Given the description of an element on the screen output the (x, y) to click on. 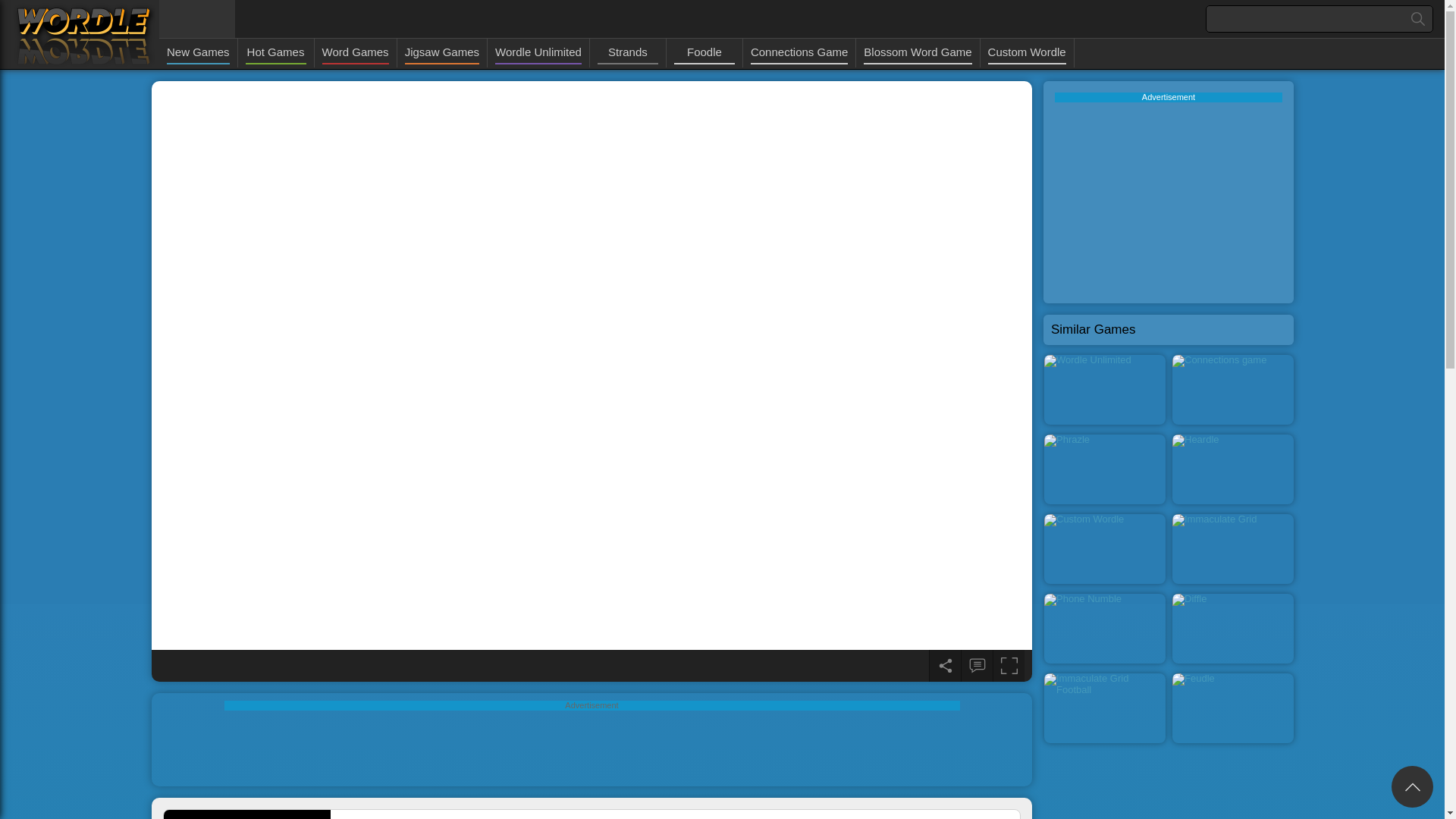
Wordle Website (83, 35)
Strands (627, 52)
Blossom Word Game (917, 52)
Wordle Unlimited (537, 52)
Foodle (704, 52)
Connections Game (799, 52)
Jigsaw Games (441, 52)
New Games (198, 52)
Custom Wordle (1026, 52)
Hot Games (275, 52)
